Given the description of an element on the screen output the (x, y) to click on. 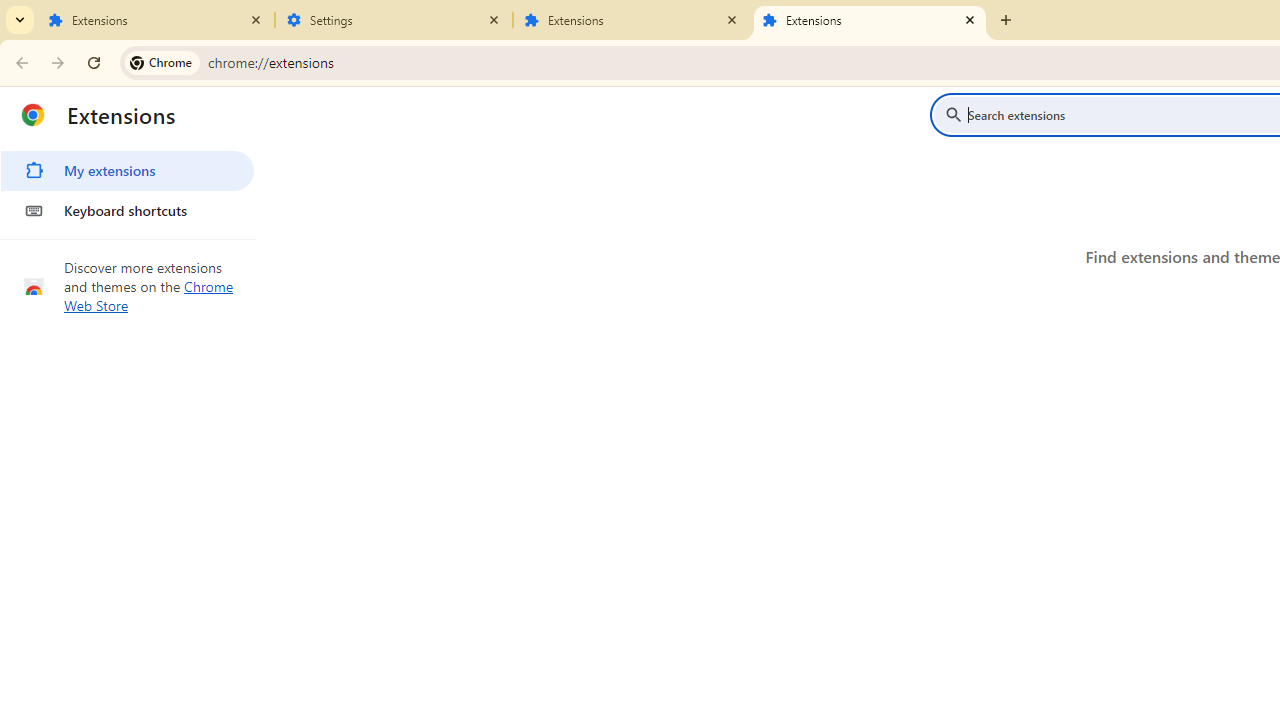
My extensions (127, 170)
